Given the description of an element on the screen output the (x, y) to click on. 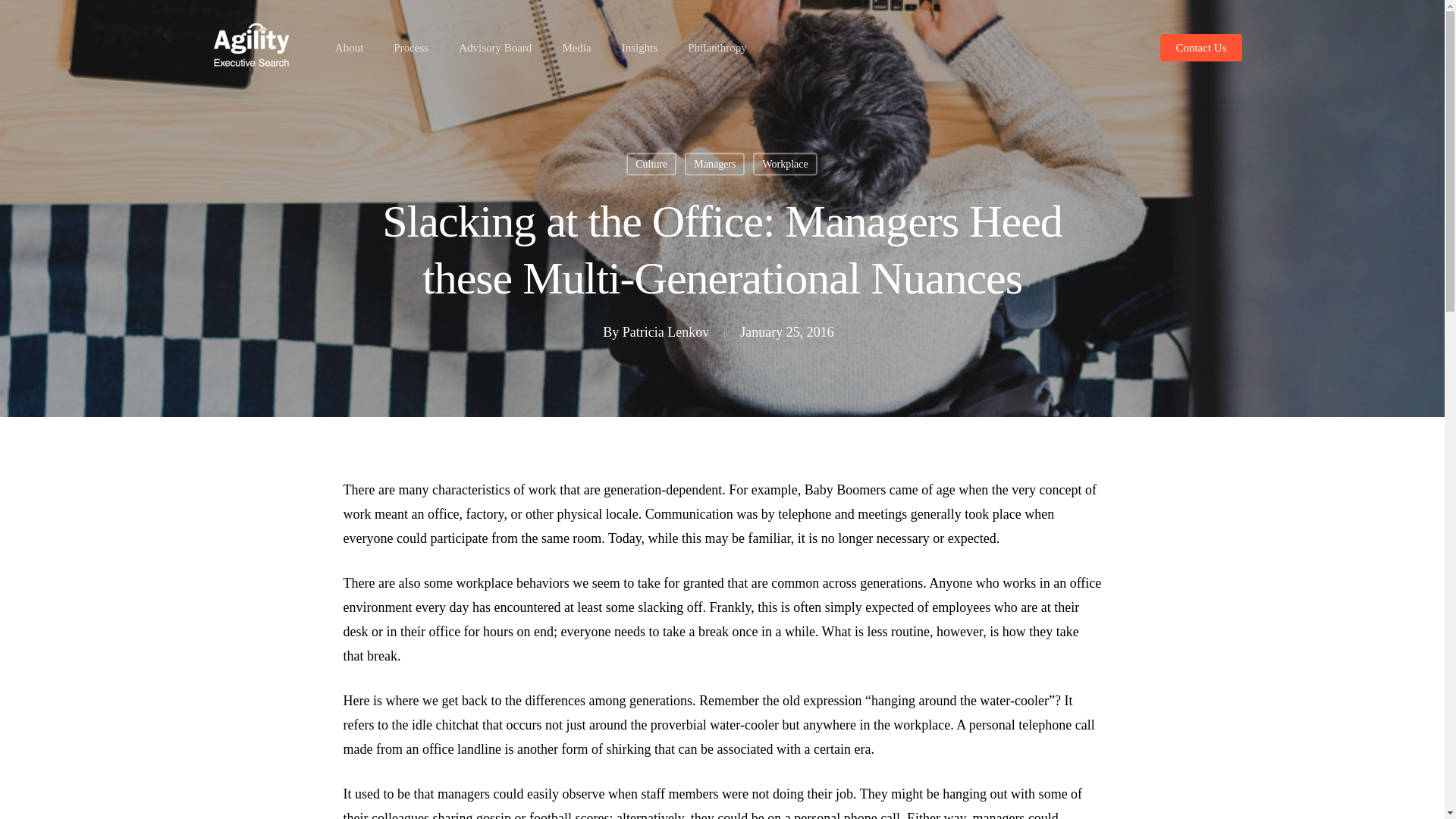
Patricia Lenkov (666, 331)
Advisory Board (494, 46)
Media (576, 46)
Culture (651, 164)
Process (410, 46)
Managers (714, 164)
Philanthropy (716, 46)
Posts by Patricia Lenkov (666, 331)
Workplace (784, 164)
Contact Us (1200, 46)
About (349, 46)
Insights (639, 46)
